Given the description of an element on the screen output the (x, y) to click on. 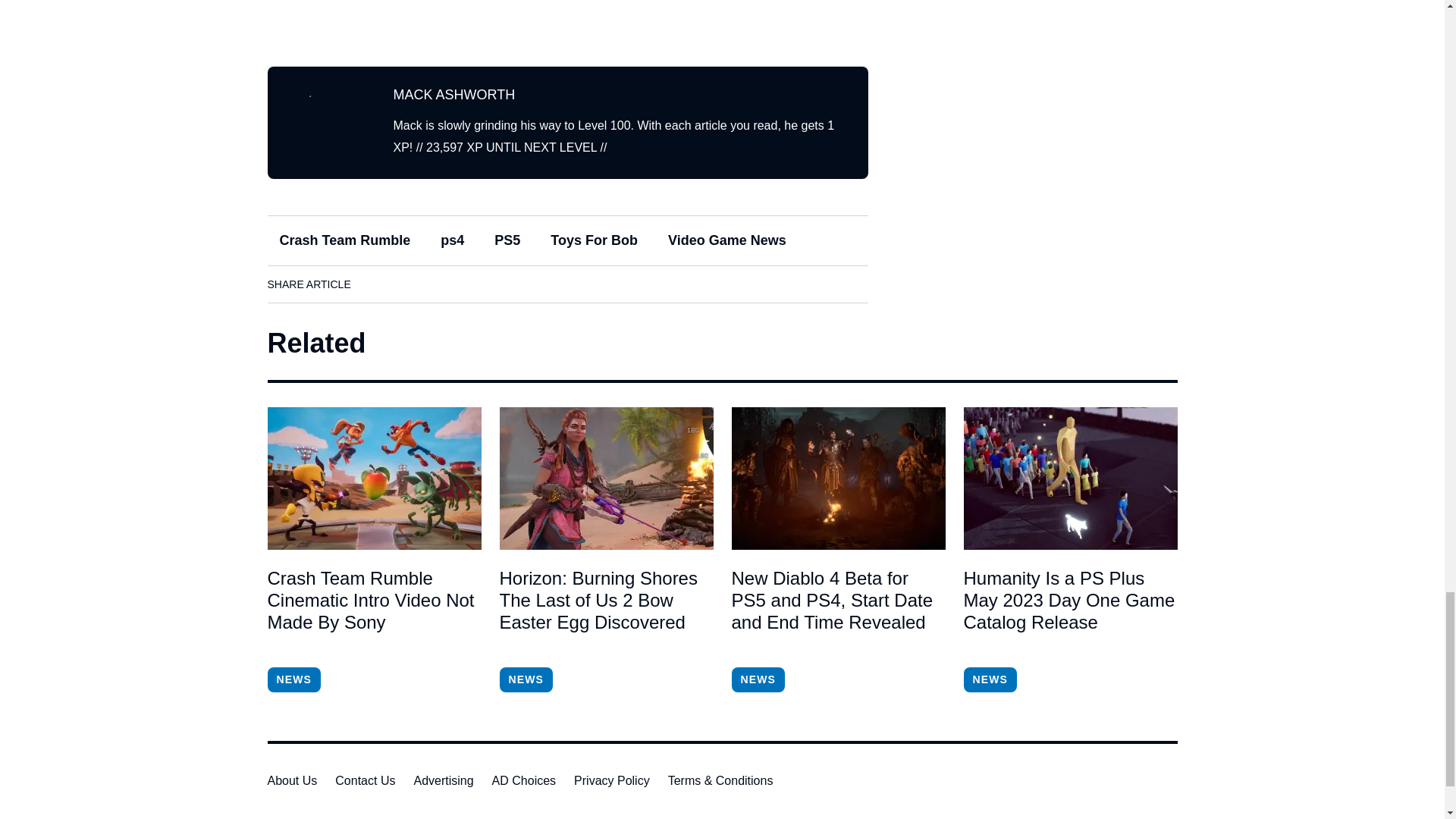
Toys For Bob (593, 240)
MACK ASHWORTH (454, 94)
Twitter (463, 283)
Crash Team Rumble (344, 240)
Humanity Is a PS Plus May 2023 Day One Game Catalog Release (1069, 611)
Facebook (377, 283)
Pinterest (505, 283)
ps4 (452, 240)
LinkedIn (420, 283)
